Given the description of an element on the screen output the (x, y) to click on. 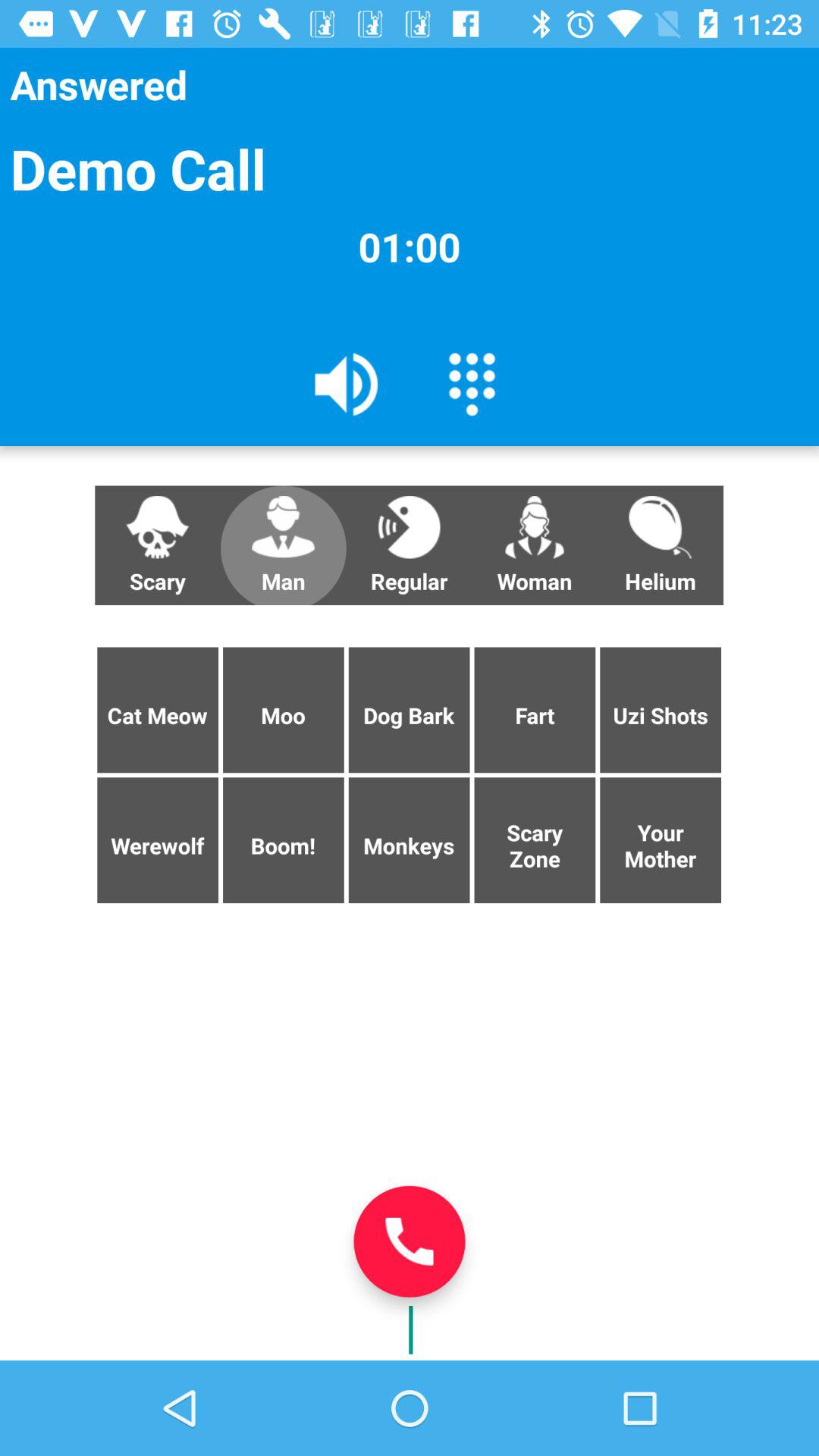
turn off the app above fart app (660, 545)
